Given the description of an element on the screen output the (x, y) to click on. 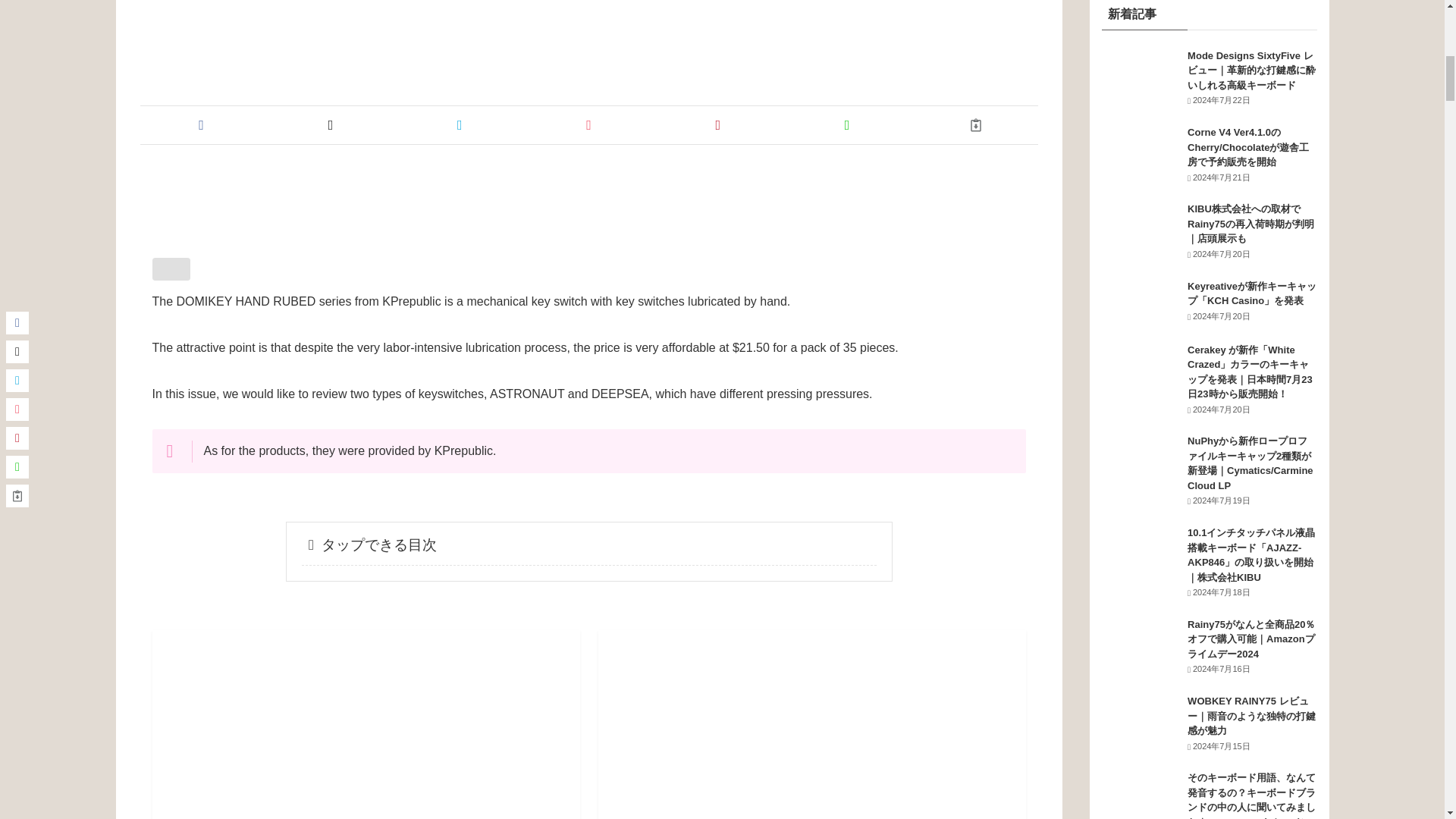
Save pin (717, 125)
Send to LINE (847, 125)
Register in Hatena Bookmark (459, 125)
Save to Pocket (588, 125)
Copy the URL (975, 125)
Share on Facebook (201, 125)
